Given the description of an element on the screen output the (x, y) to click on. 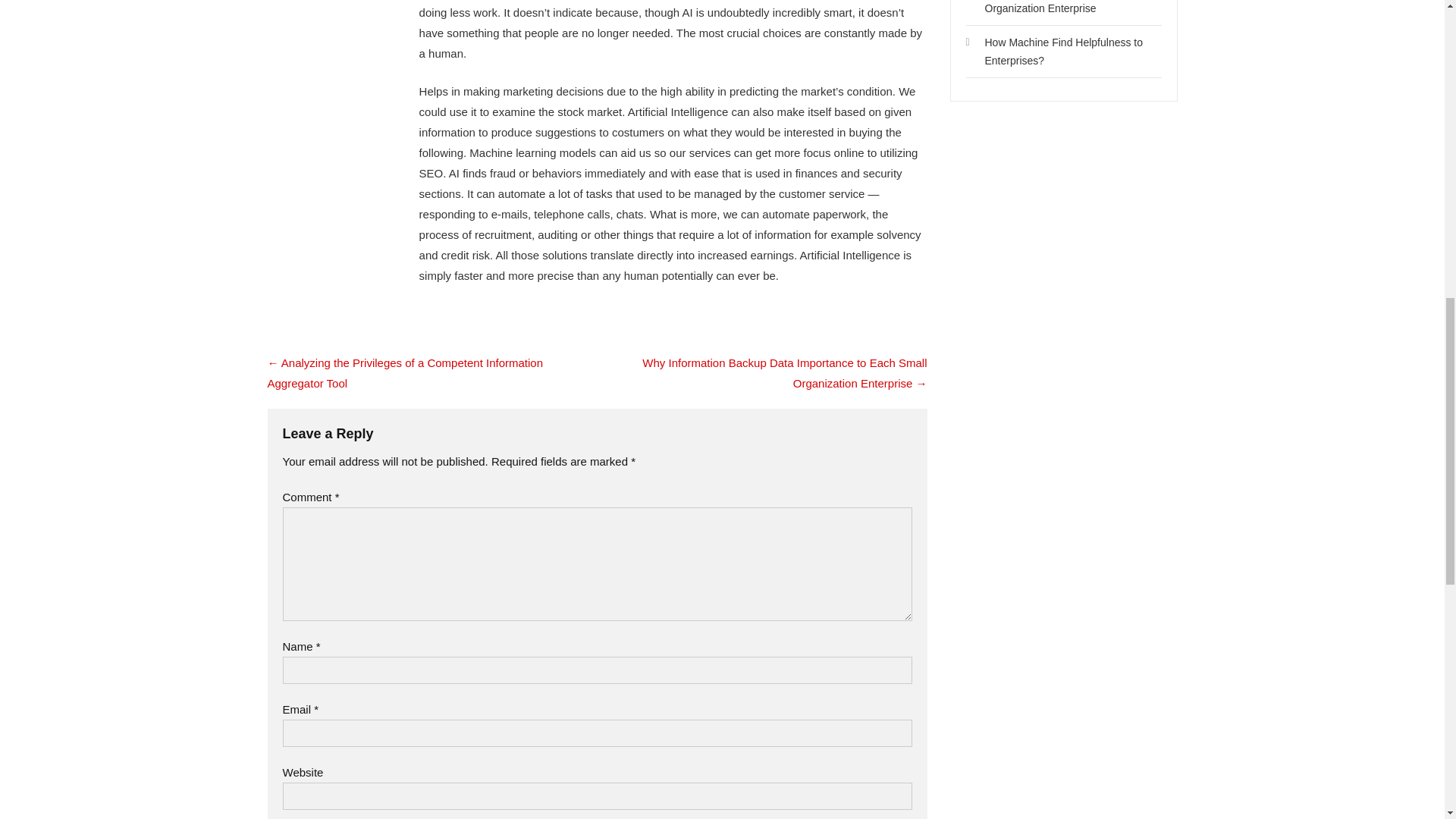
How Machine Find Helpfulness to Enterprises? (1063, 51)
